Given the description of an element on the screen output the (x, y) to click on. 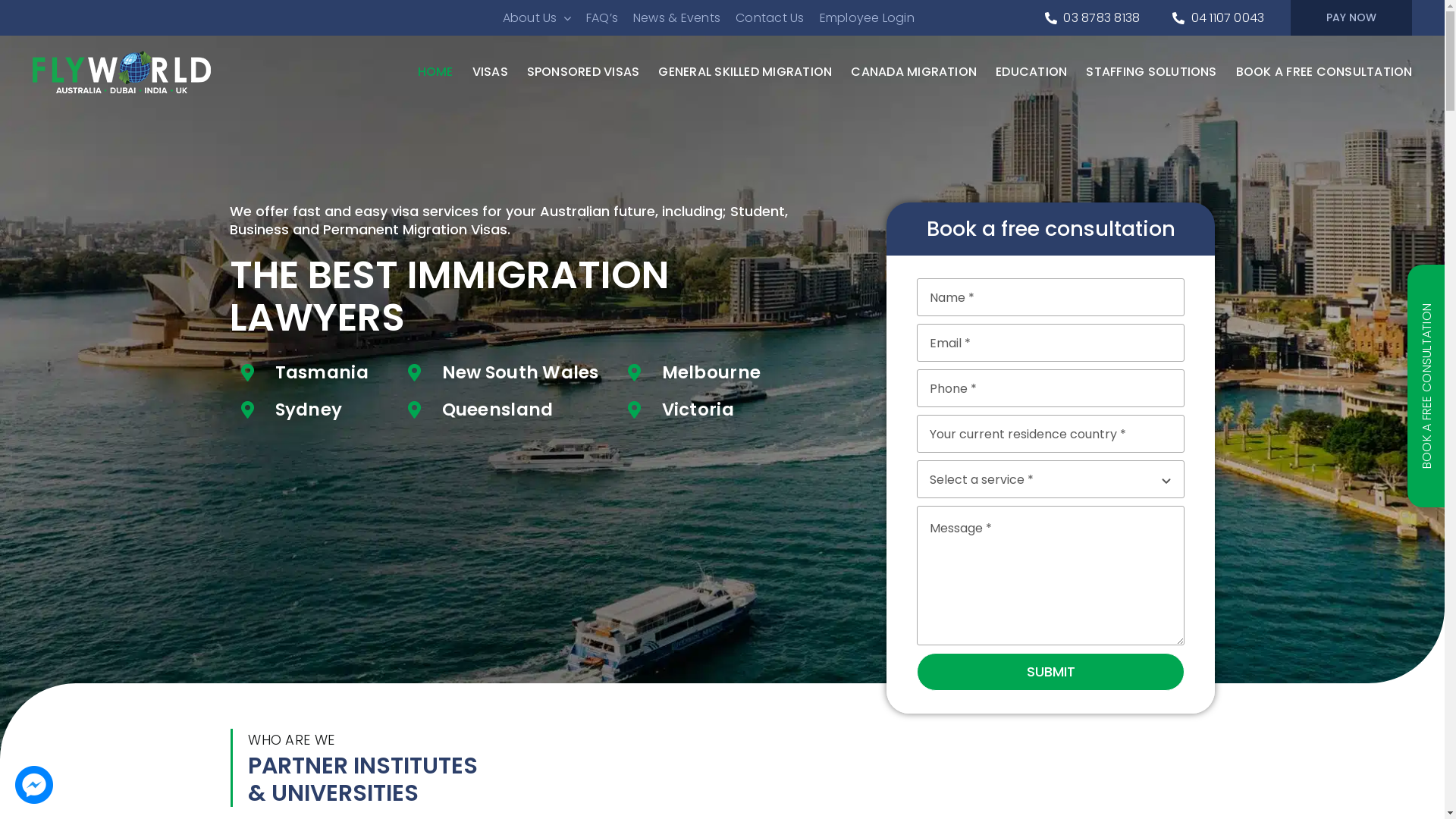
PAY NOW Element type: text (1351, 17)
VISAS Element type: text (490, 71)
HOME Element type: text (435, 71)
News & Events Element type: text (676, 17)
Employee Login Element type: text (866, 17)
04 1107 0043 Element type: text (1215, 17)
SPONSORED VISAS Element type: text (583, 71)
SUBMIT Element type: text (1050, 671)
About Us Element type: text (536, 17)
03 8783 8138 Element type: text (1088, 17)
BOOK A FREE CONSULTATION Element type: text (1324, 71)
Contact Us Element type: text (769, 17)
CANADA MIGRATION Element type: text (913, 71)
GENERAL SKILLED MIGRATION Element type: text (744, 71)
EDUCATION Element type: text (1030, 71)
STAFFING SOLUTIONS Element type: text (1150, 71)
